Given the description of an element on the screen output the (x, y) to click on. 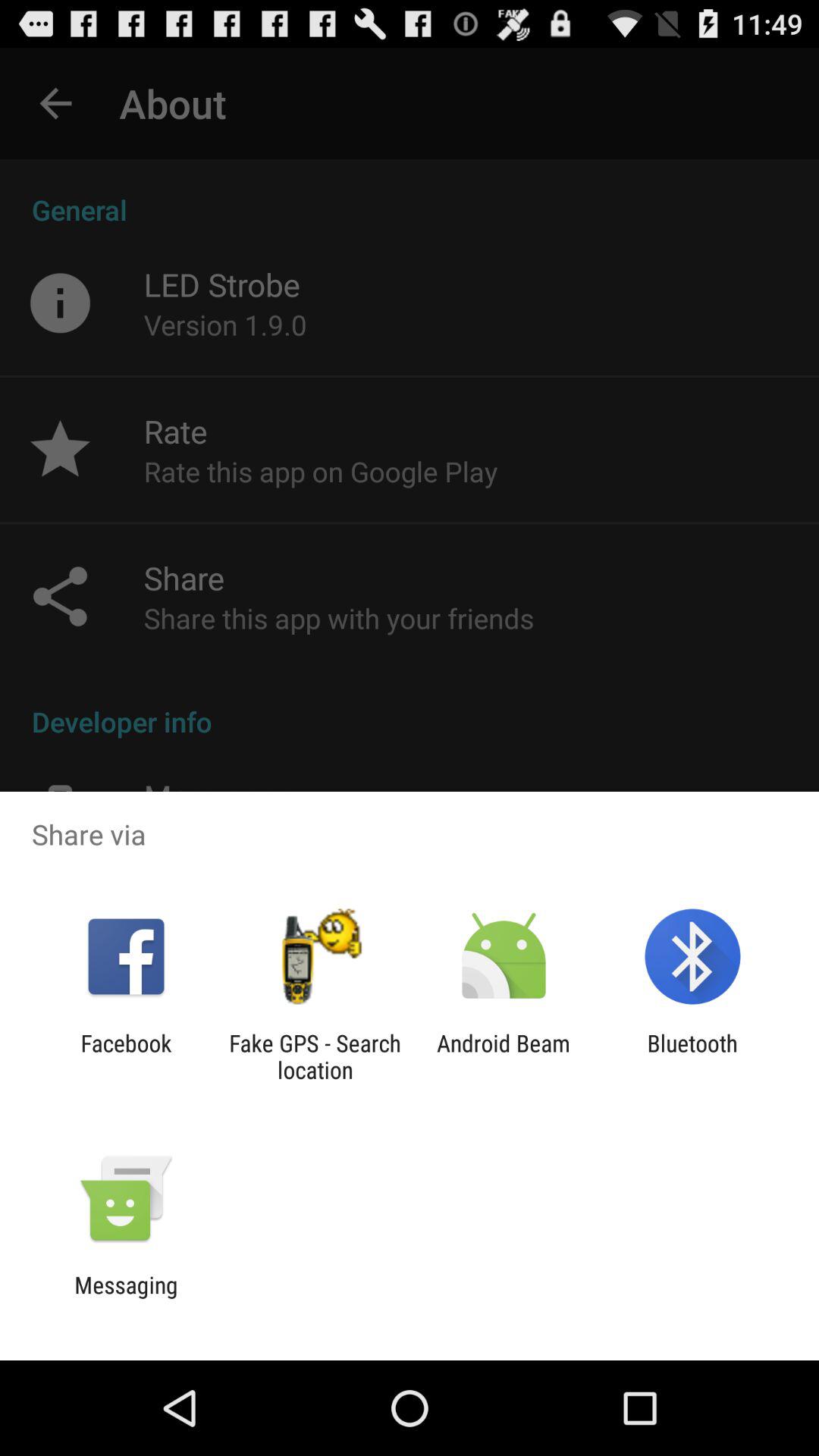
select icon next to the android beam icon (692, 1056)
